Given the description of an element on the screen output the (x, y) to click on. 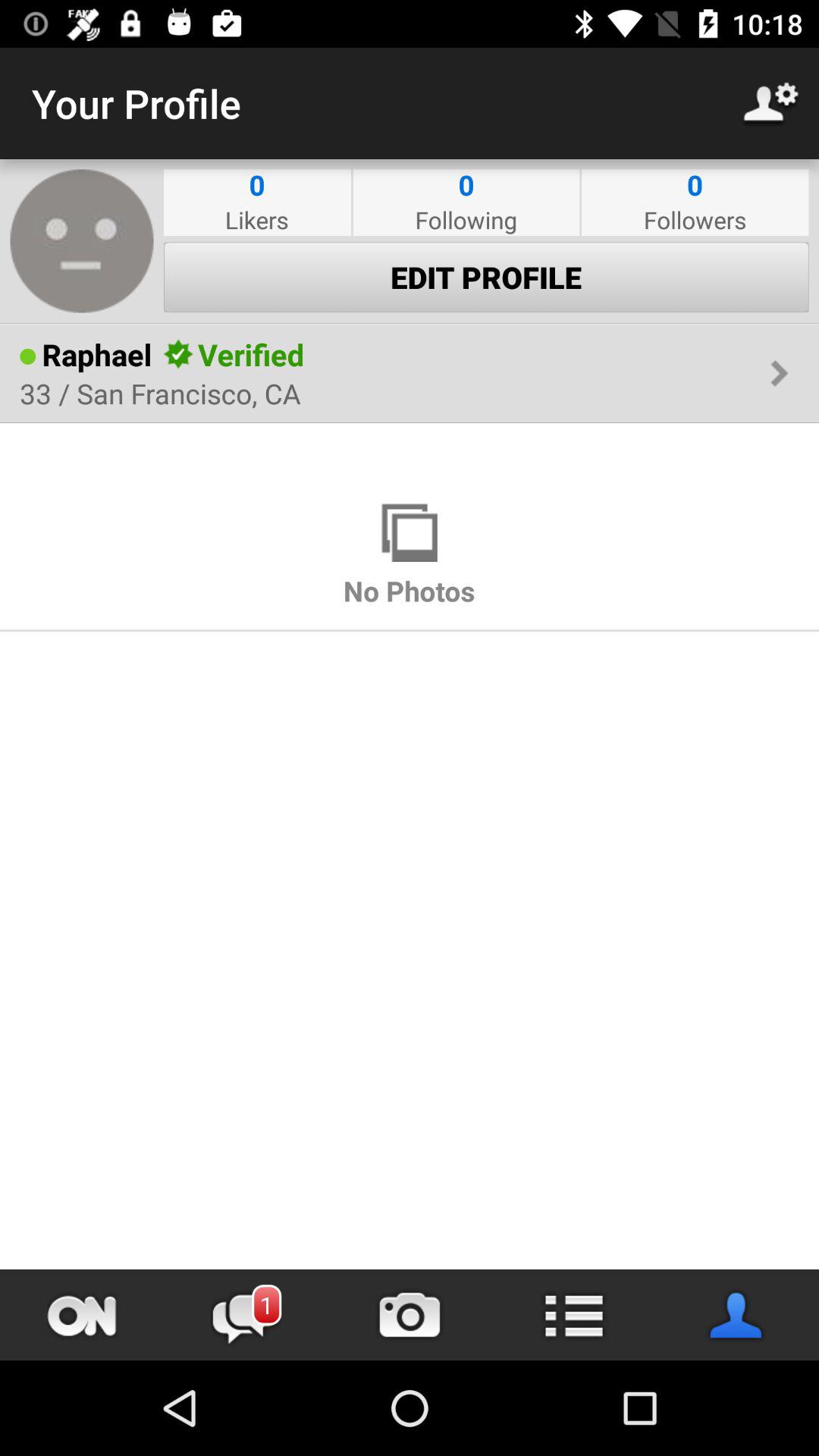
view profile (737, 1315)
